Given the description of an element on the screen output the (x, y) to click on. 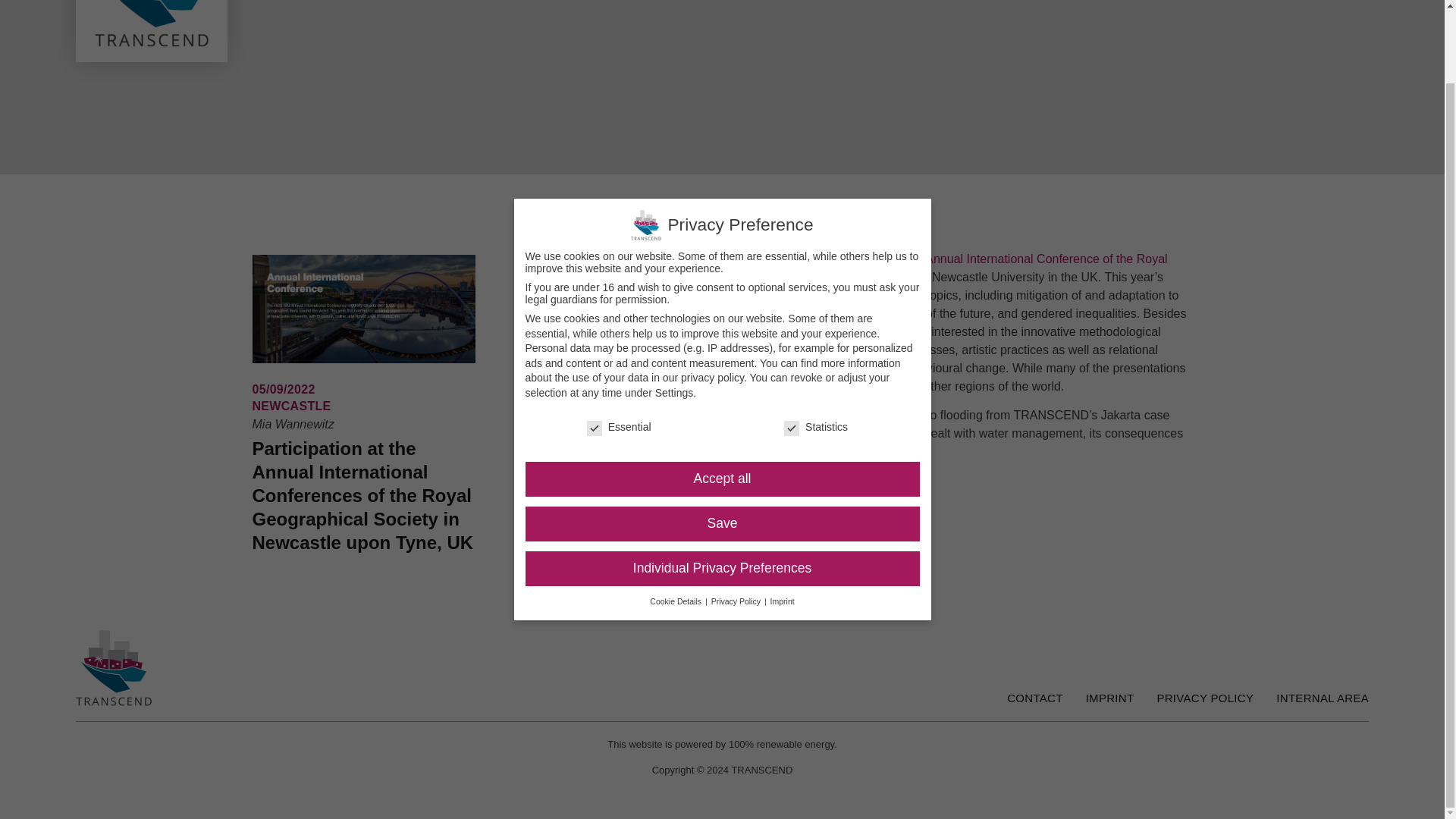
NEWCASTLE (290, 405)
